Given the description of an element on the screen output the (x, y) to click on. 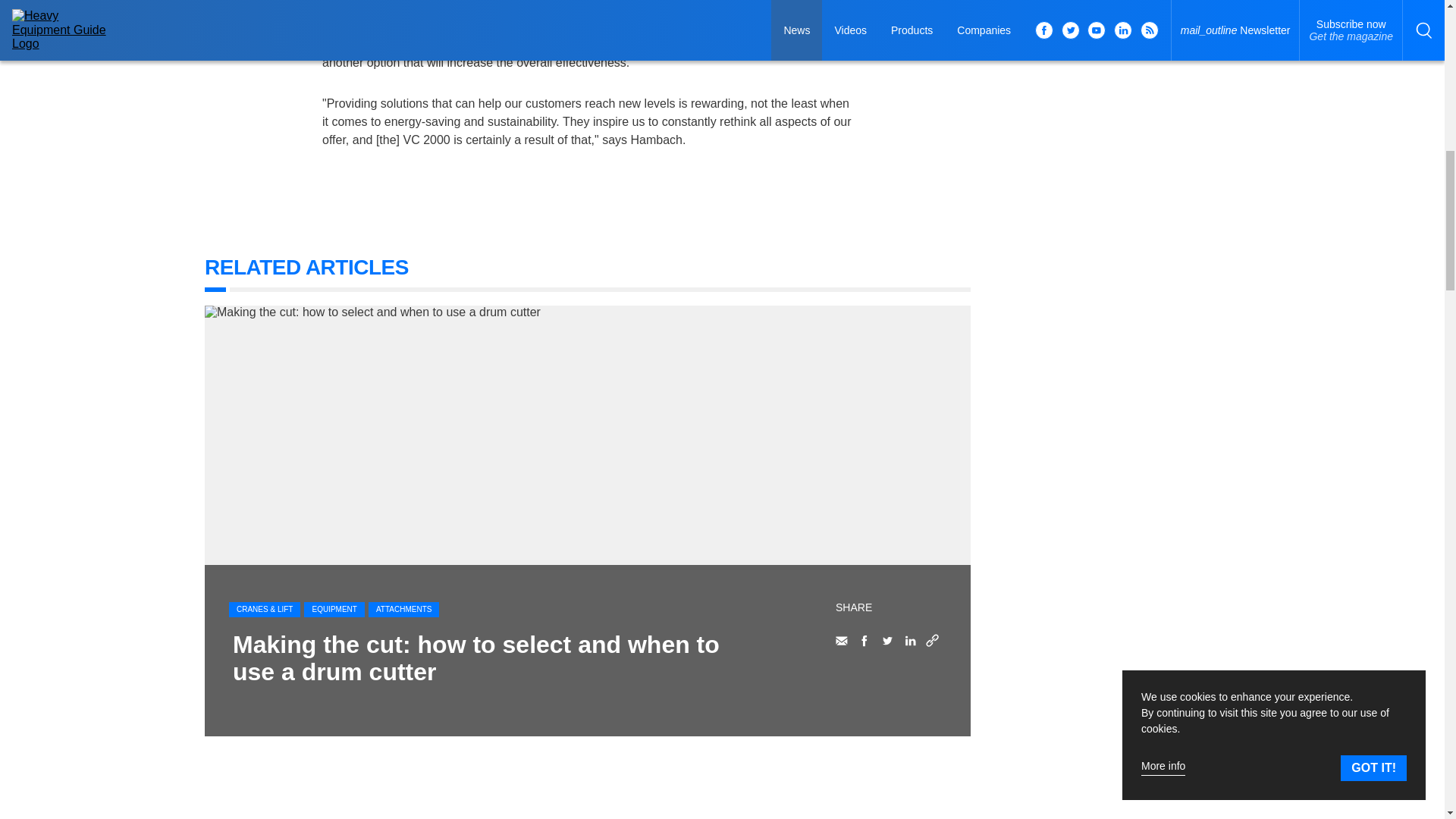
EQUIPMENT (334, 609)
ATTACHMENTS (403, 609)
